Given the description of an element on the screen output the (x, y) to click on. 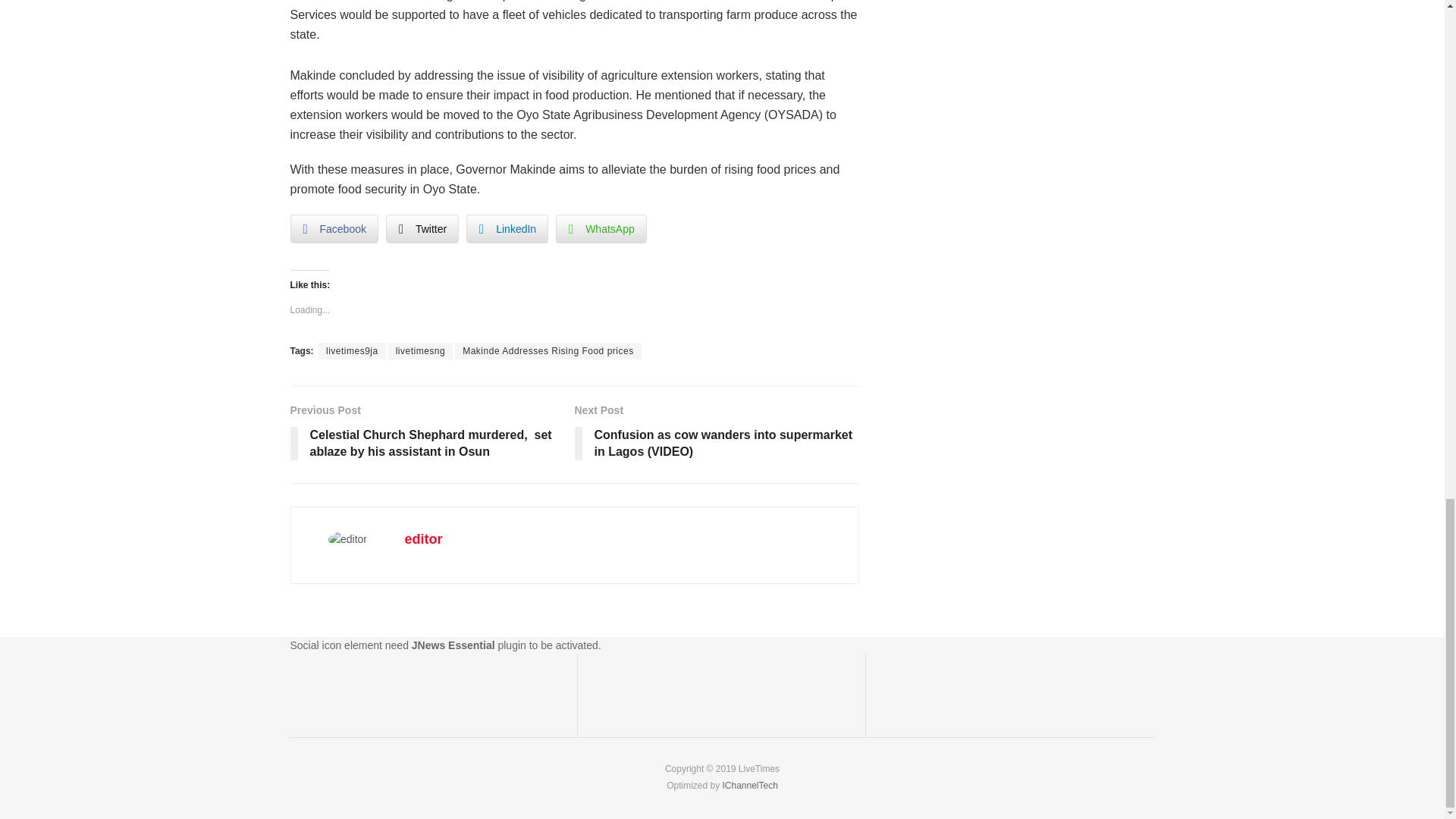
Twitter (421, 228)
livetimesng (420, 351)
WhatsApp (601, 228)
LinkedIn (506, 228)
livetimes9ja (351, 351)
Facebook (333, 228)
